Given the description of an element on the screen output the (x, y) to click on. 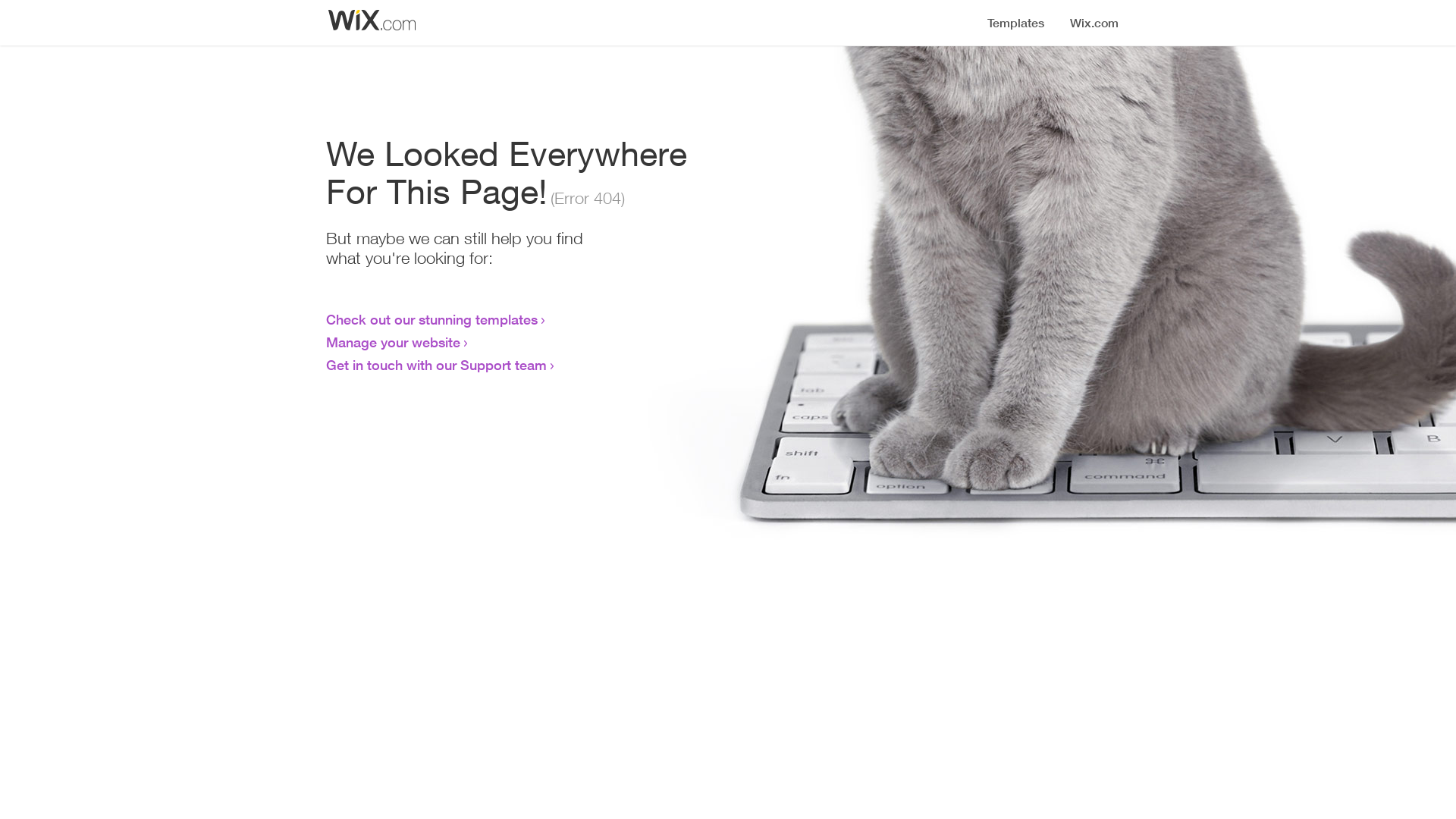
Get in touch with our Support team Element type: text (436, 364)
Check out our stunning templates Element type: text (431, 318)
Manage your website Element type: text (393, 341)
